Given the description of an element on the screen output the (x, y) to click on. 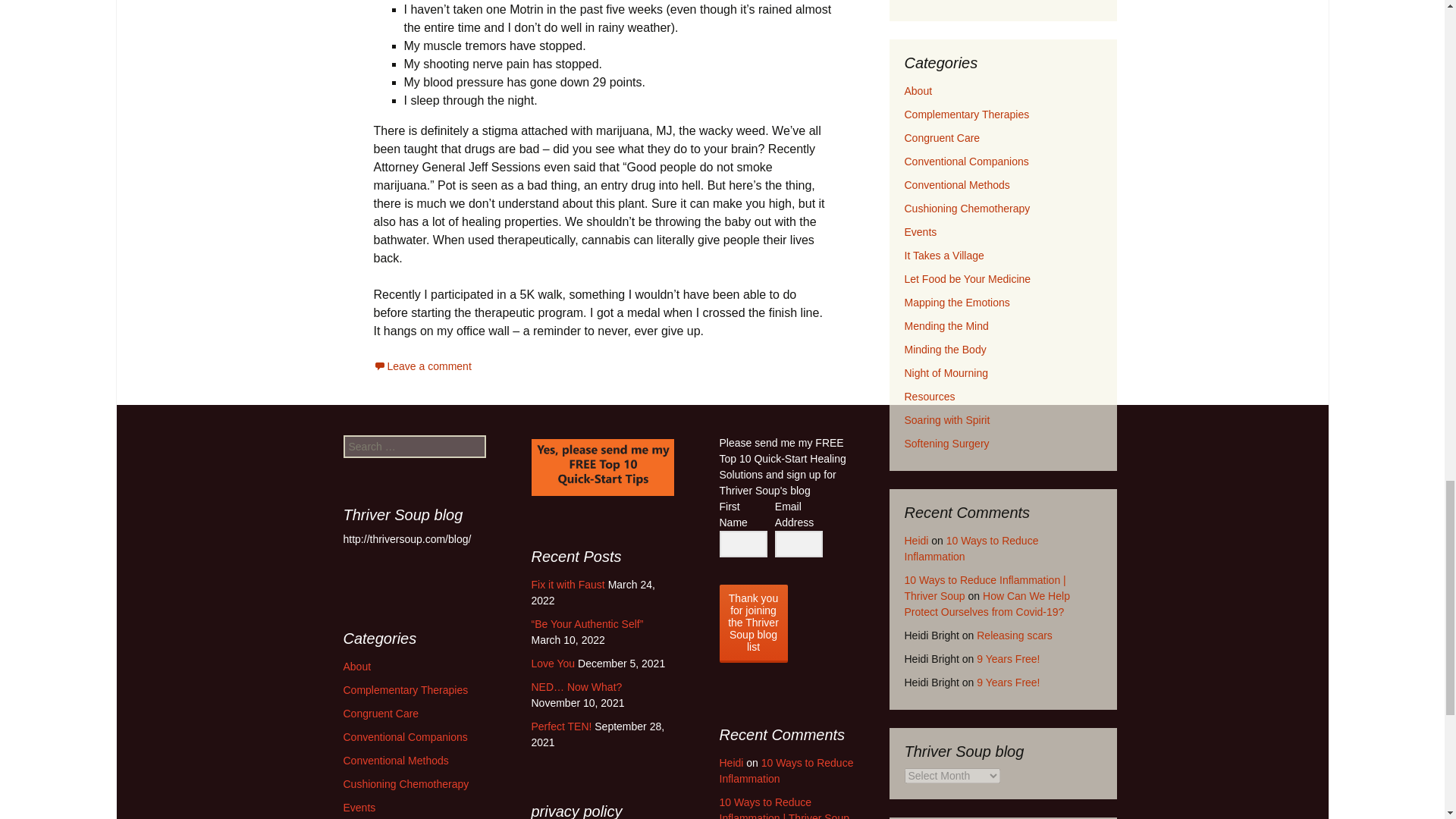
Complementary Therapies (966, 114)
About (917, 91)
Leave a comment (421, 366)
